Given the description of an element on the screen output the (x, y) to click on. 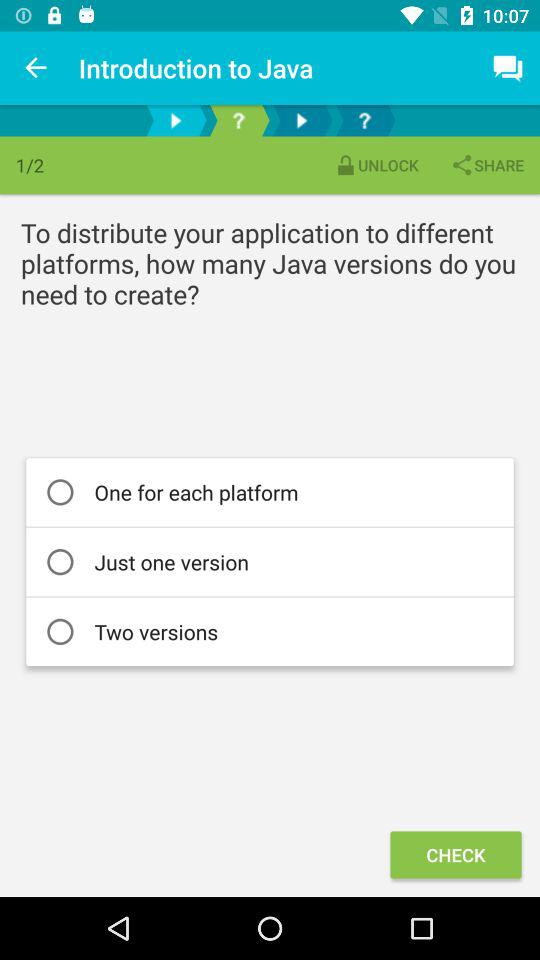
go next (301, 120)
